Given the description of an element on the screen output the (x, y) to click on. 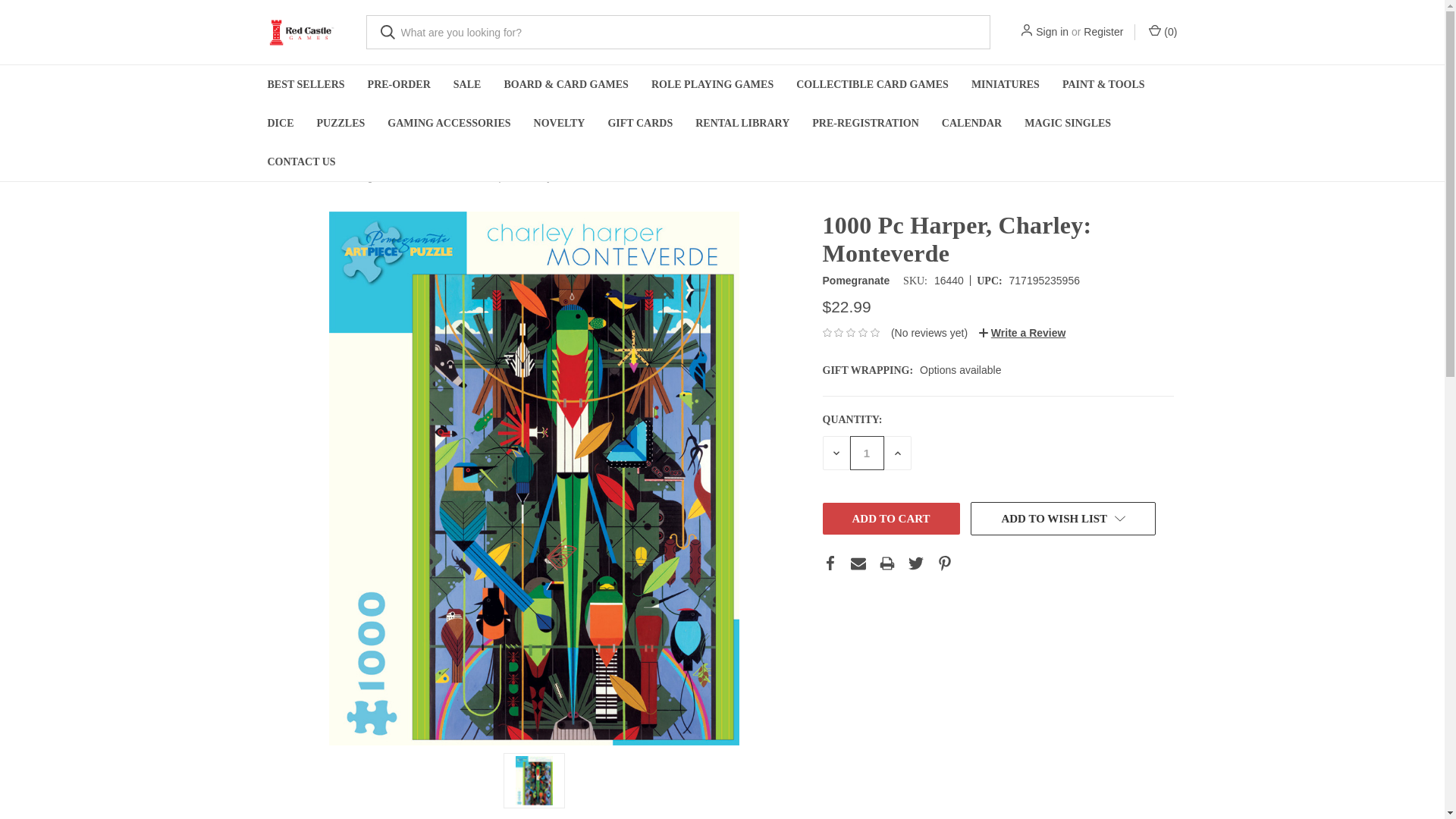
BEST SELLERS (306, 84)
Add to Cart (890, 518)
PRE-ORDER (399, 84)
Register (1102, 32)
1 (865, 452)
Sign in (1051, 32)
SALE (467, 84)
Red Castle Games (300, 32)
